Given the description of an element on the screen output the (x, y) to click on. 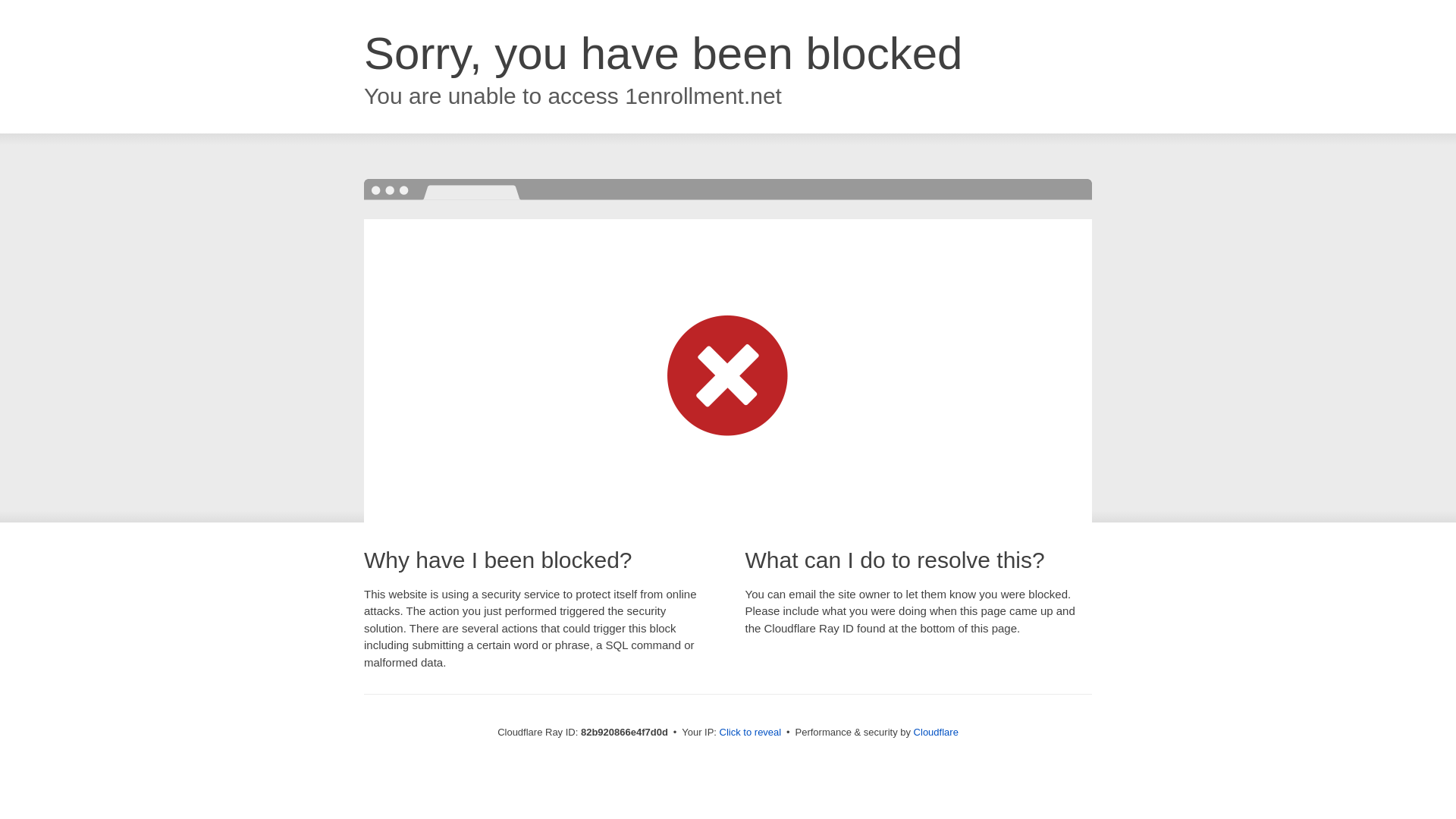
Cloudflare Element type: text (935, 731)
Click to reveal Element type: text (750, 732)
